Given the description of an element on the screen output the (x, y) to click on. 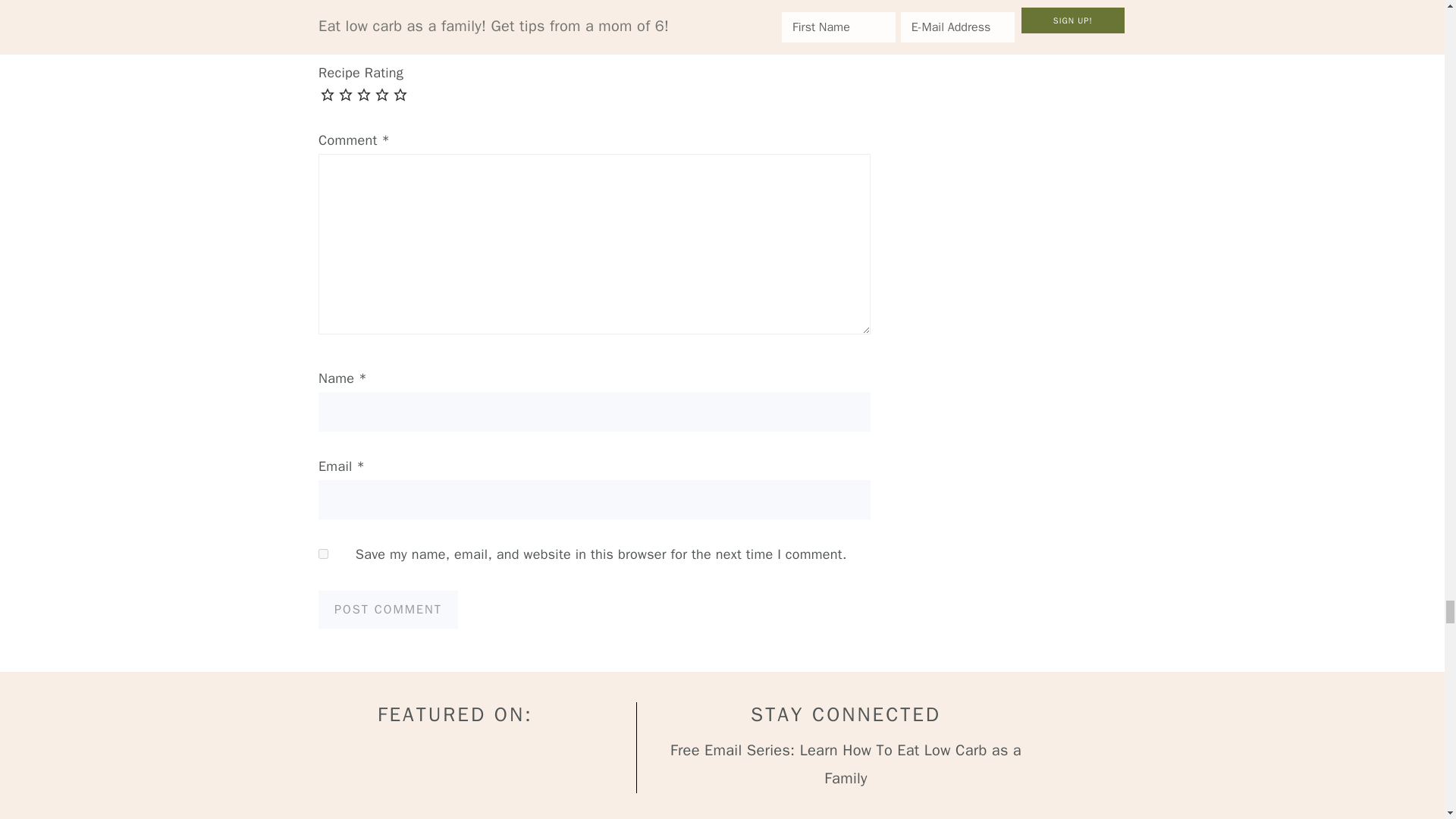
yes (323, 553)
Post Comment (388, 609)
